Given the description of an element on the screen output the (x, y) to click on. 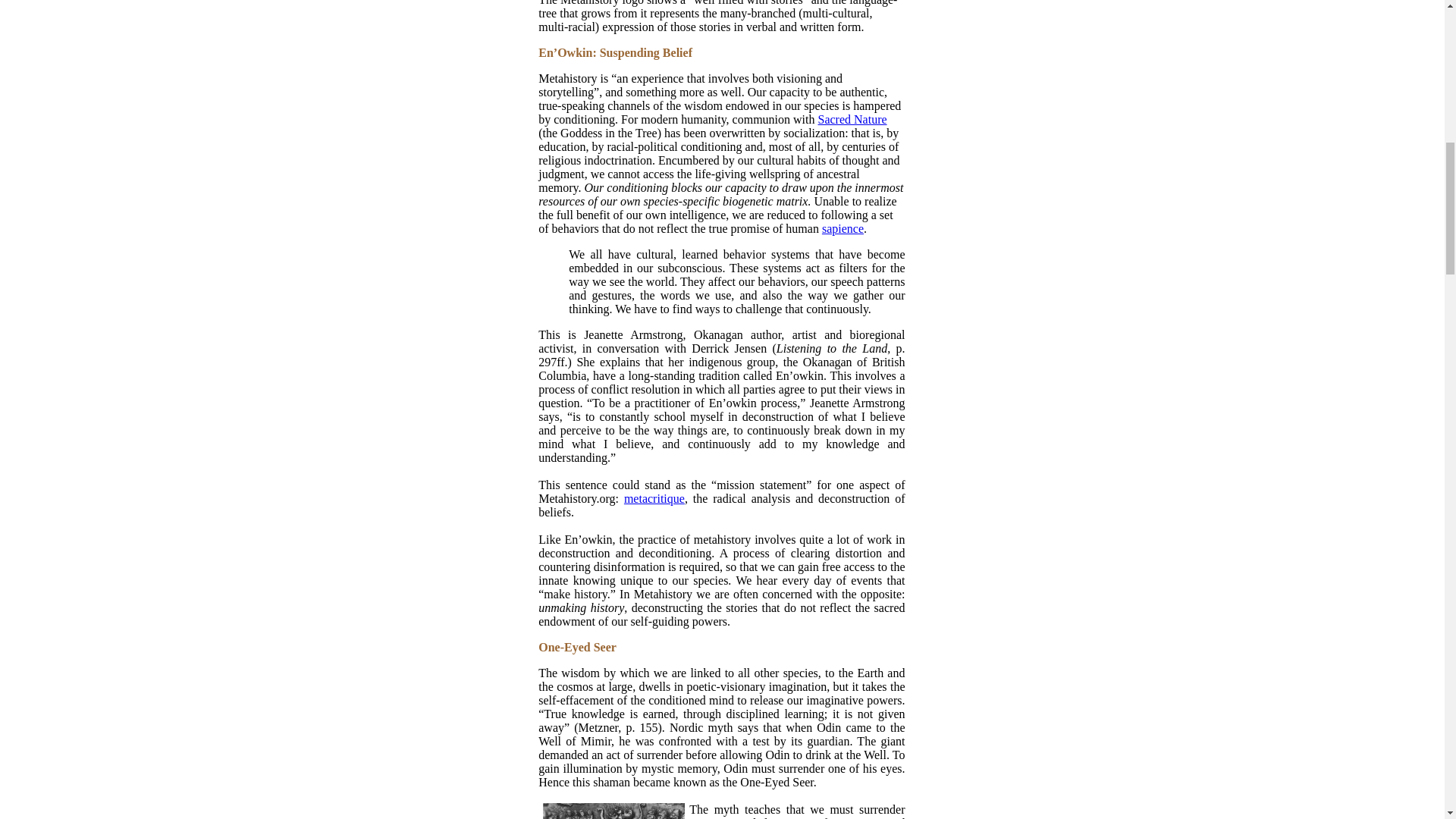
metacritique (654, 498)
Sacred Nature (851, 119)
sapience (842, 228)
